Given the description of an element on the screen output the (x, y) to click on. 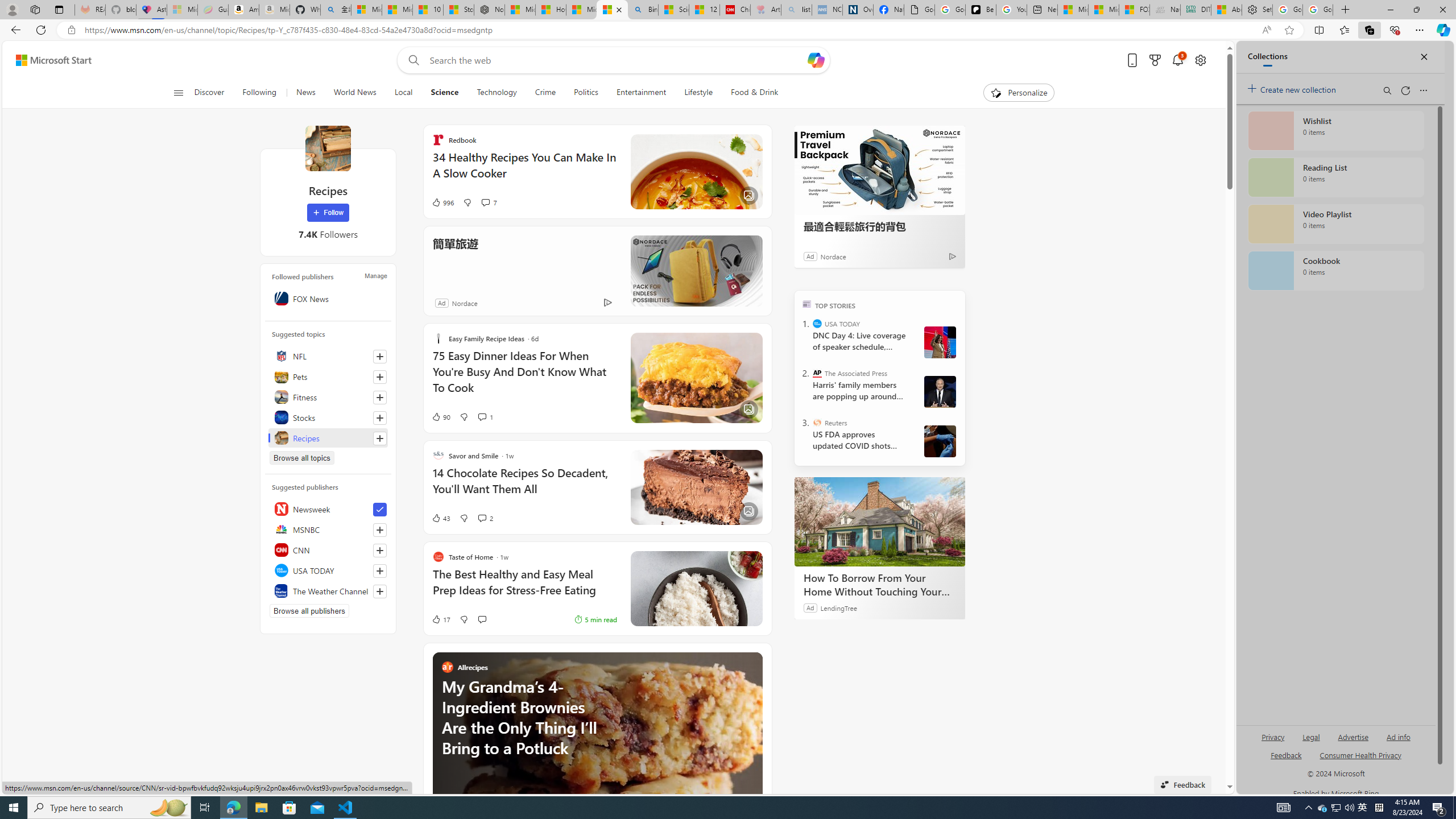
View comments 7 Comment (485, 202)
90 Like (440, 416)
Follow (328, 212)
